Given the description of an element on the screen output the (x, y) to click on. 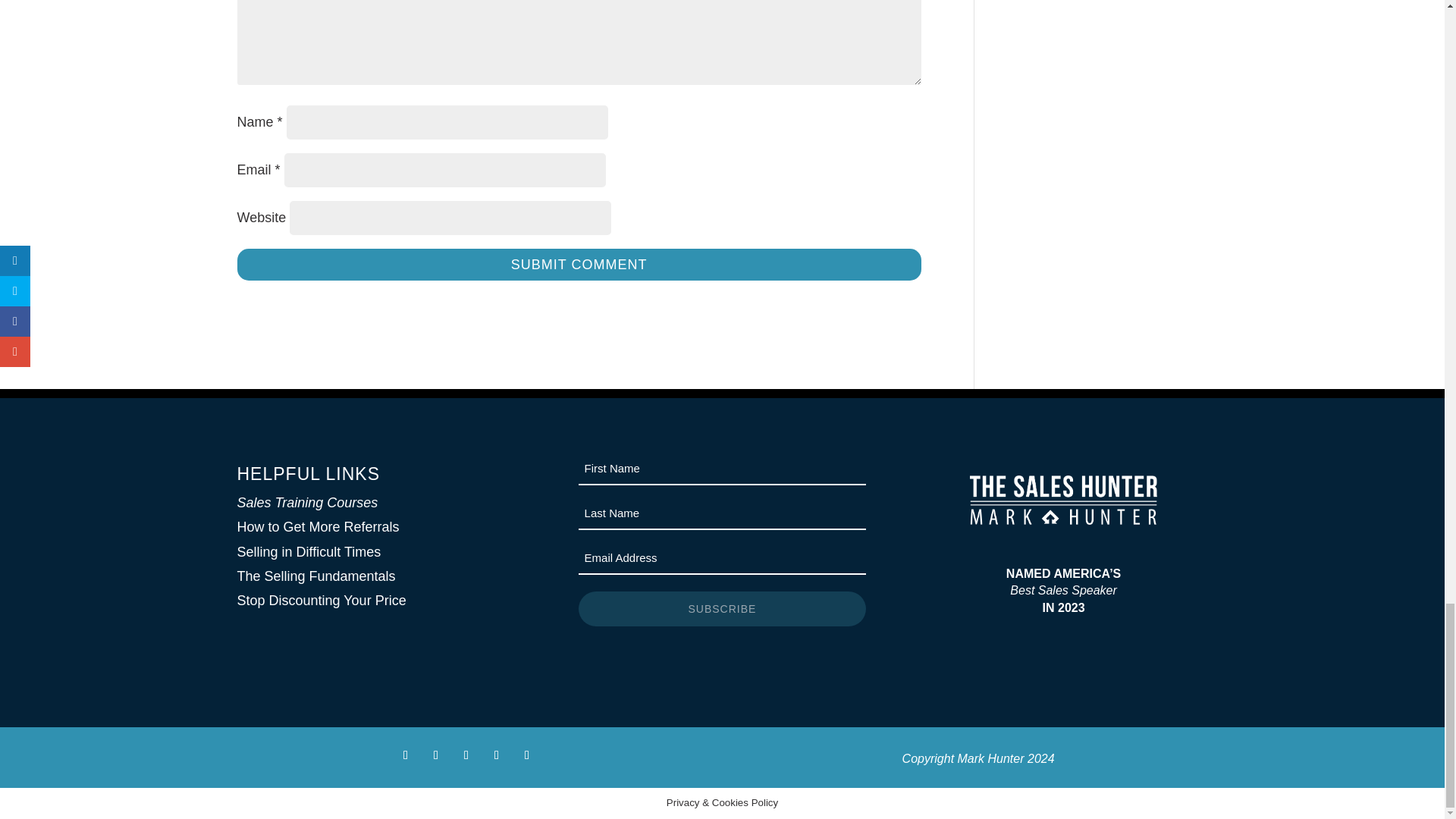
Submit Comment (577, 264)
How to Get More Referrals (316, 526)
Stop Discounting Your Price (320, 600)
Submit Comment (577, 264)
Follow on LinkedIn (496, 754)
The Selling Fundamentals (314, 575)
Follow on Facebook (405, 754)
Follow on Youtube (526, 754)
Three Branch FigAsset 28 (1063, 499)
SUBSCRIBE (722, 608)
